Given the description of an element on the screen output the (x, y) to click on. 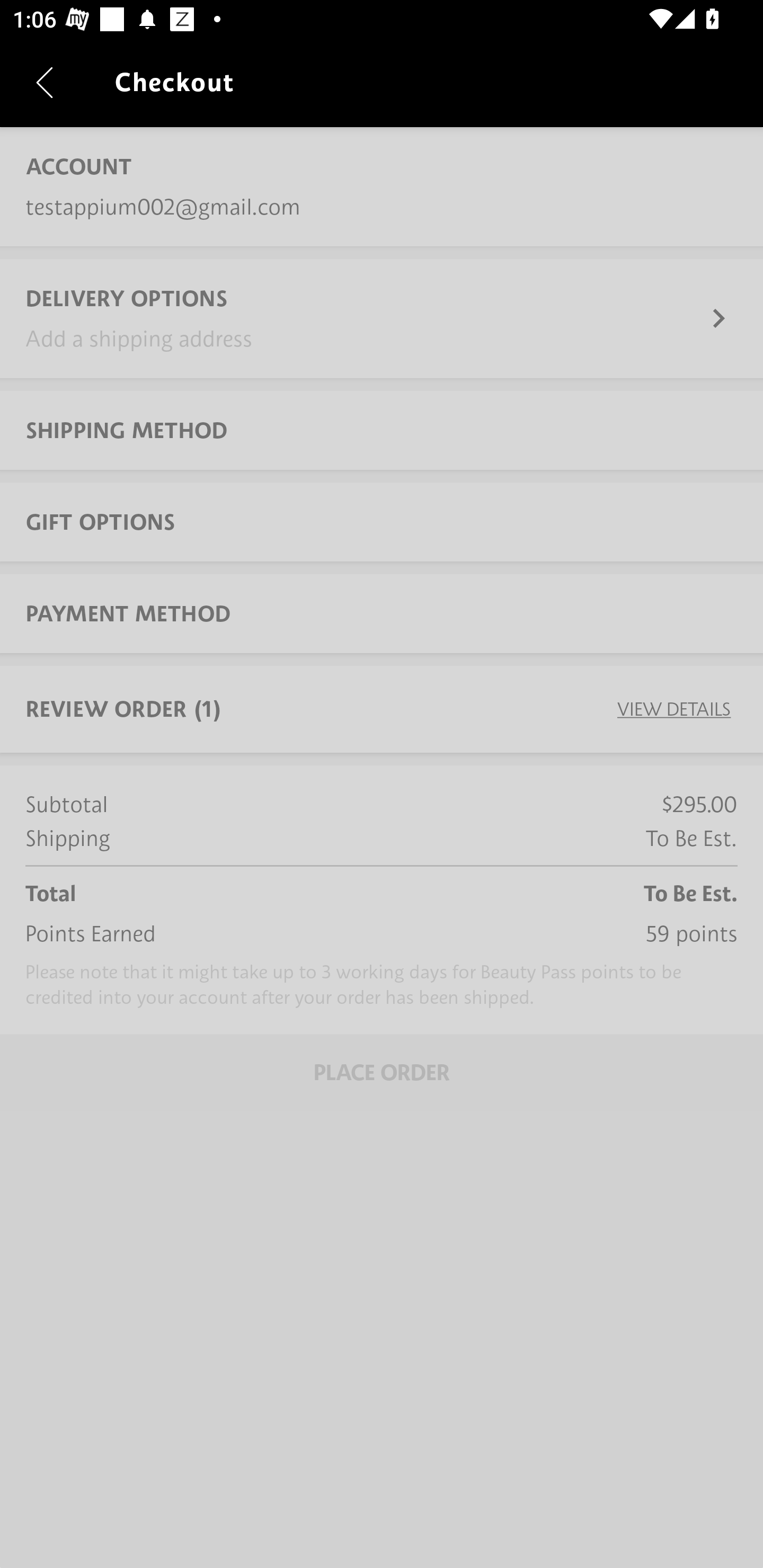
Navigate up (44, 82)
DELIVERY OPTIONS Add a shipping address (381, 317)
REVIEW ORDER (1) VIEW DETAILS (381, 709)
PLACE ORDER (381, 1072)
